Given the description of an element on the screen output the (x, y) to click on. 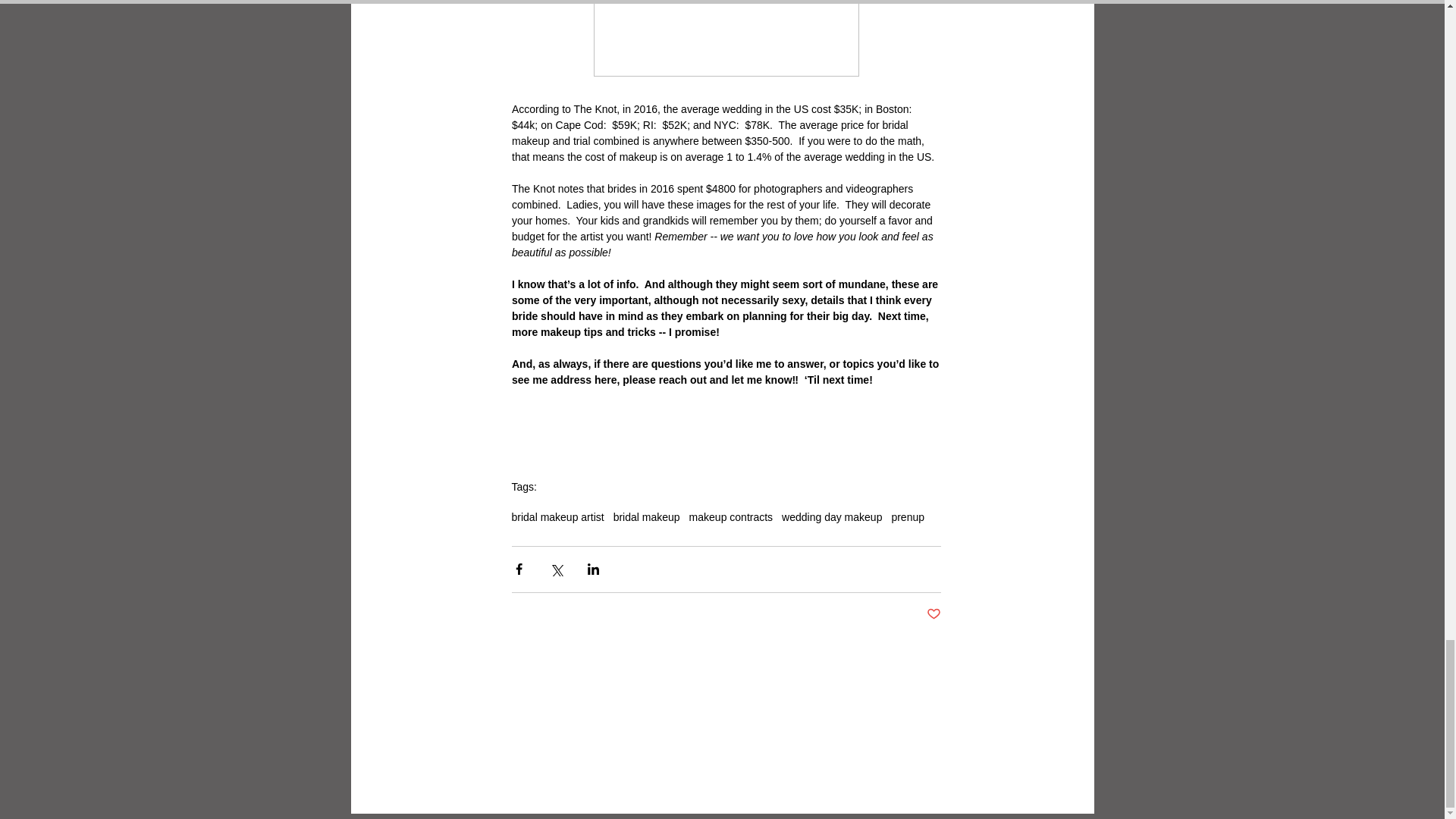
makeup contracts (730, 517)
bridal makeup (645, 517)
Post not marked as liked (933, 614)
bridal makeup artist (557, 517)
wedding day makeup (831, 517)
prenup (907, 517)
